Given the description of an element on the screen output the (x, y) to click on. 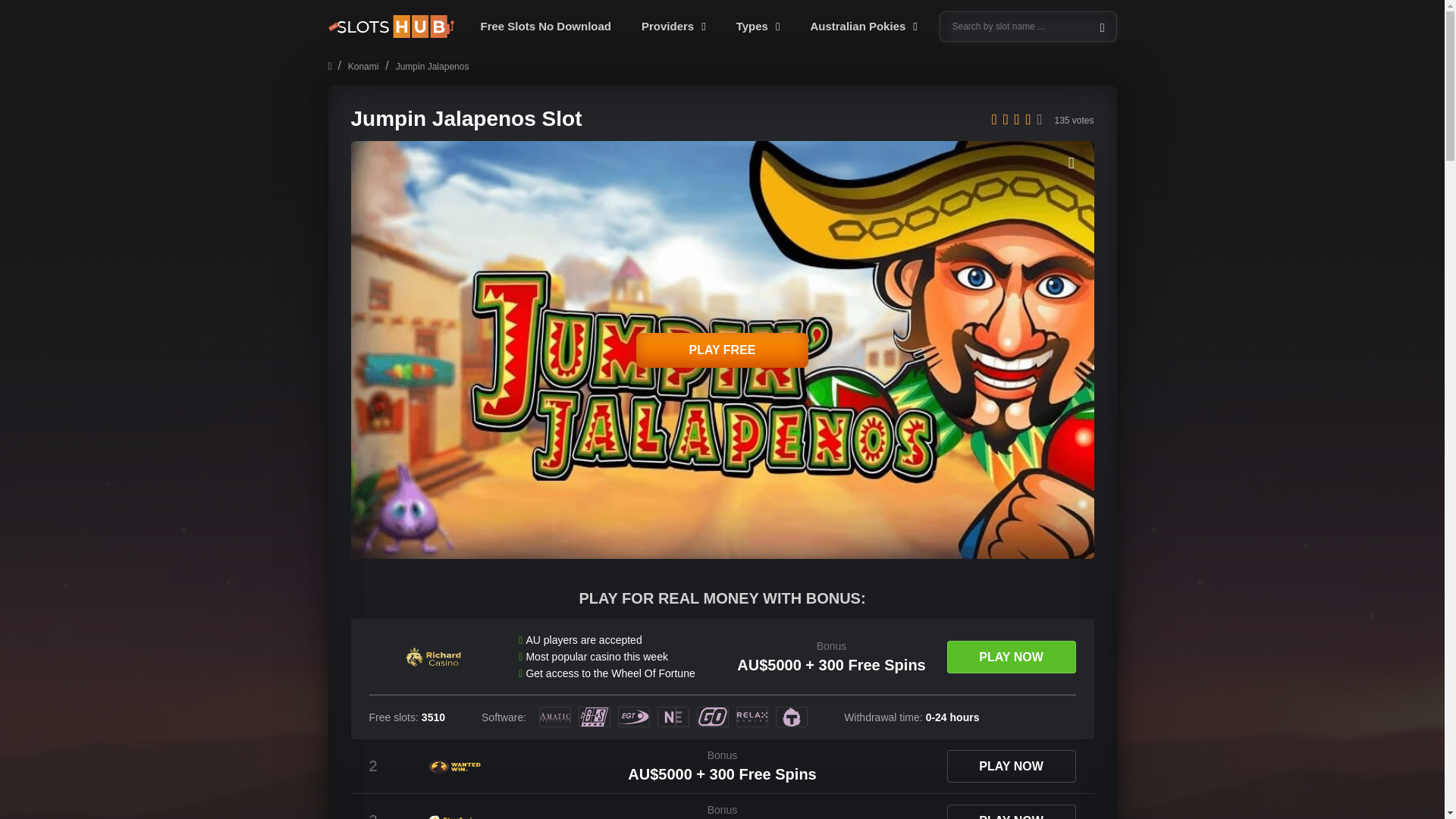
Types (757, 26)
PLAY NOW (1010, 811)
Providers (673, 26)
PLAY NOW (1010, 766)
Search (24, 10)
Australian Pokies (862, 26)
PLAY NOW (1010, 656)
Search (1027, 26)
Free Slots No Download (546, 26)
Konami (362, 66)
